Given the description of an element on the screen output the (x, y) to click on. 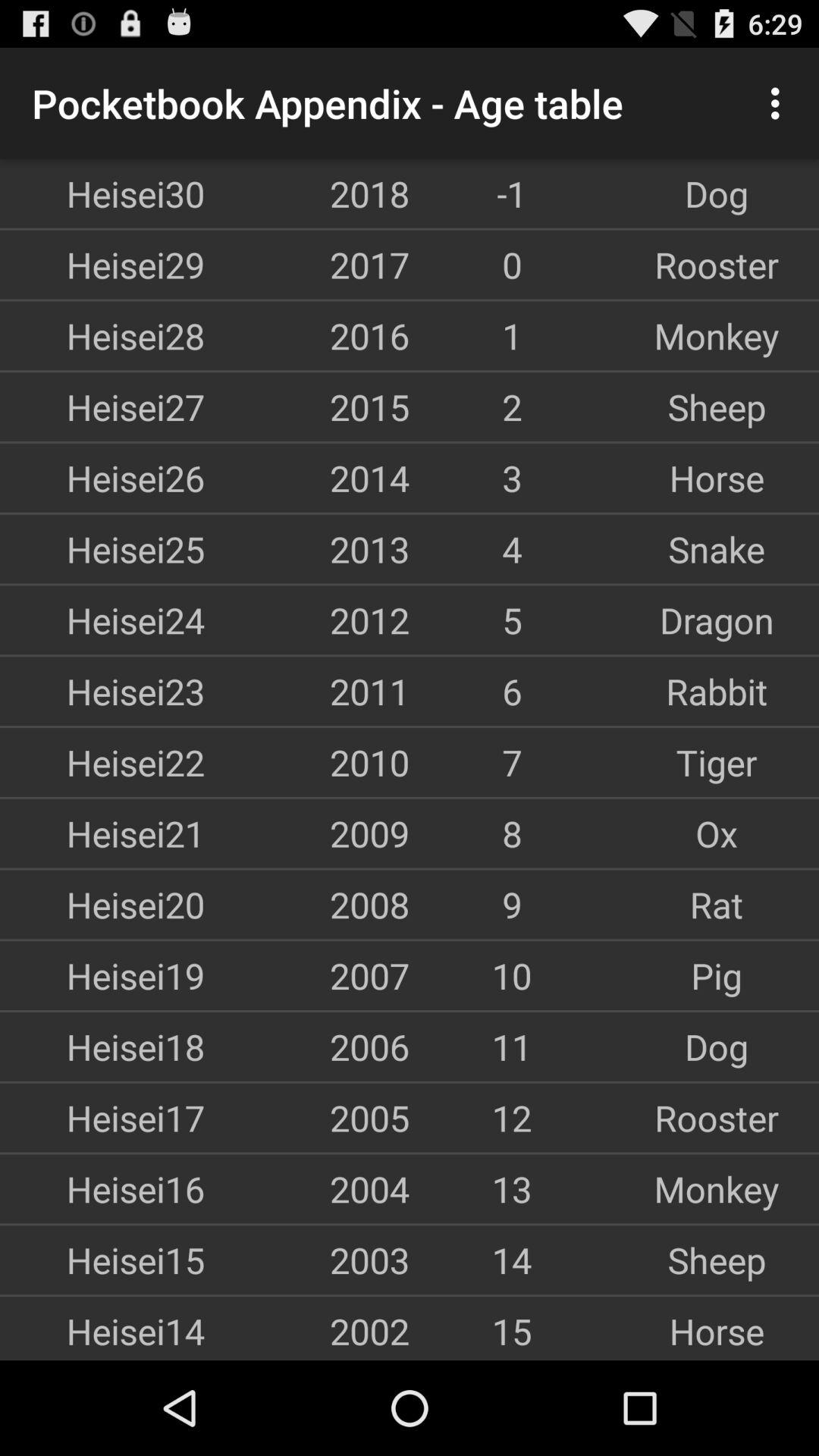
press the 15 (511, 1330)
